Given the description of an element on the screen output the (x, y) to click on. 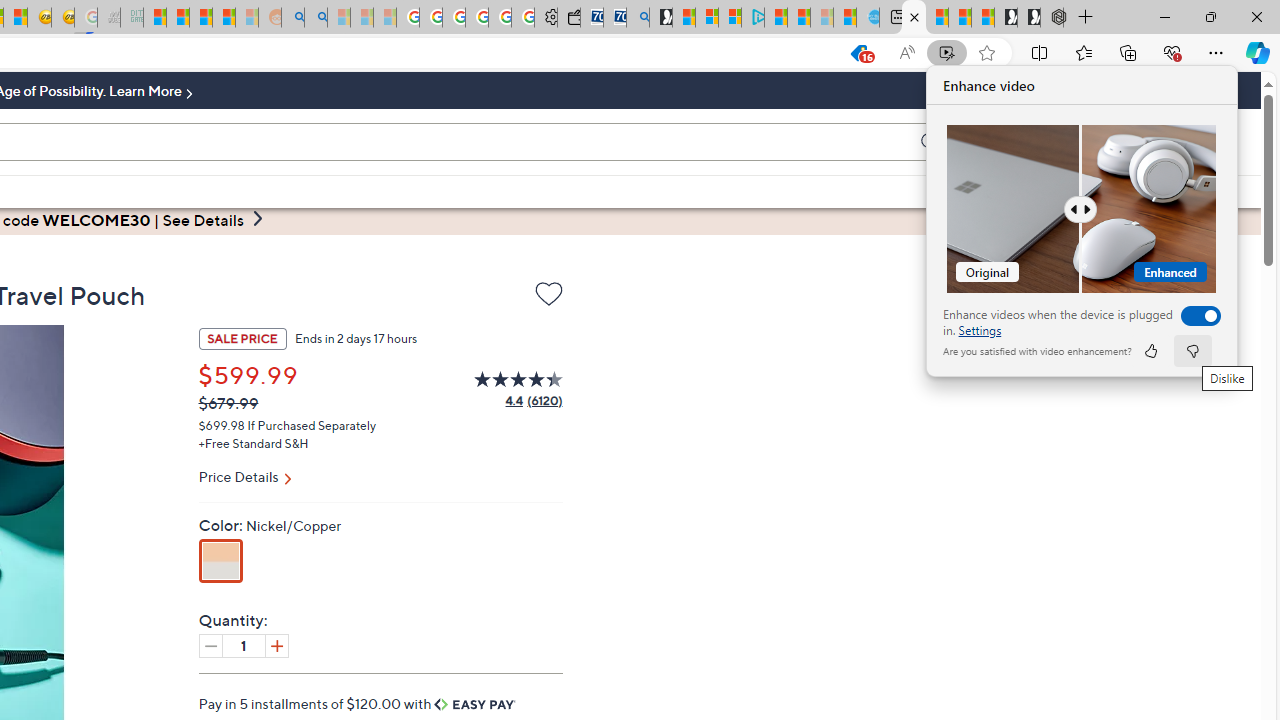
dislike (1192, 350)
